Given the description of an element on the screen output the (x, y) to click on. 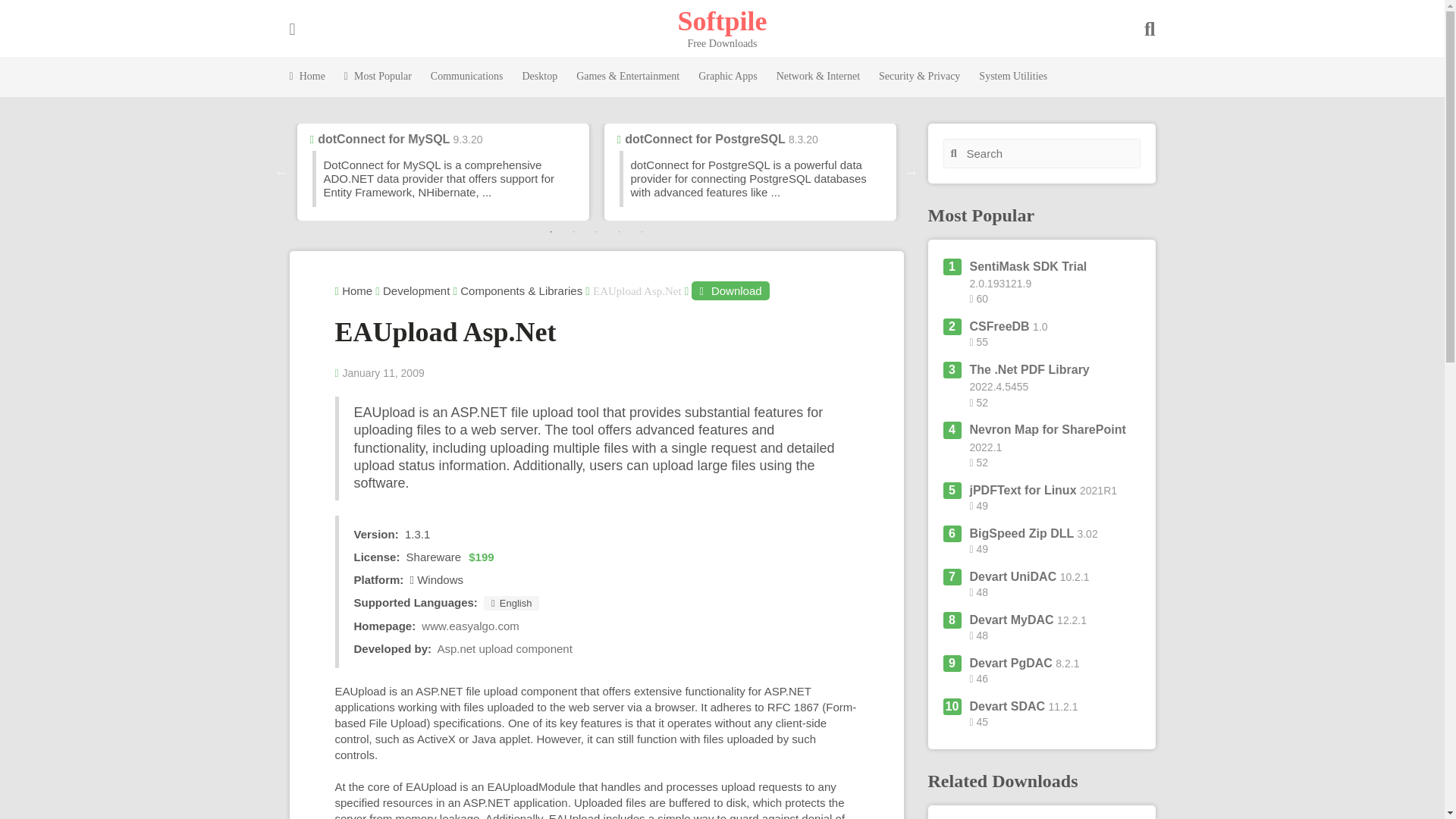
Graphic Apps (727, 76)
Download EAUpload Asp.Net 1.3.1 (729, 290)
dotConnect for PostgreSQL (704, 138)
Most Popular (377, 76)
Free Downloads (722, 20)
dotConnect for MySQL (383, 138)
Communications (466, 76)
System Utilities (1012, 76)
Softpile (722, 20)
PREVIOUS (282, 171)
